Given the description of an element on the screen output the (x, y) to click on. 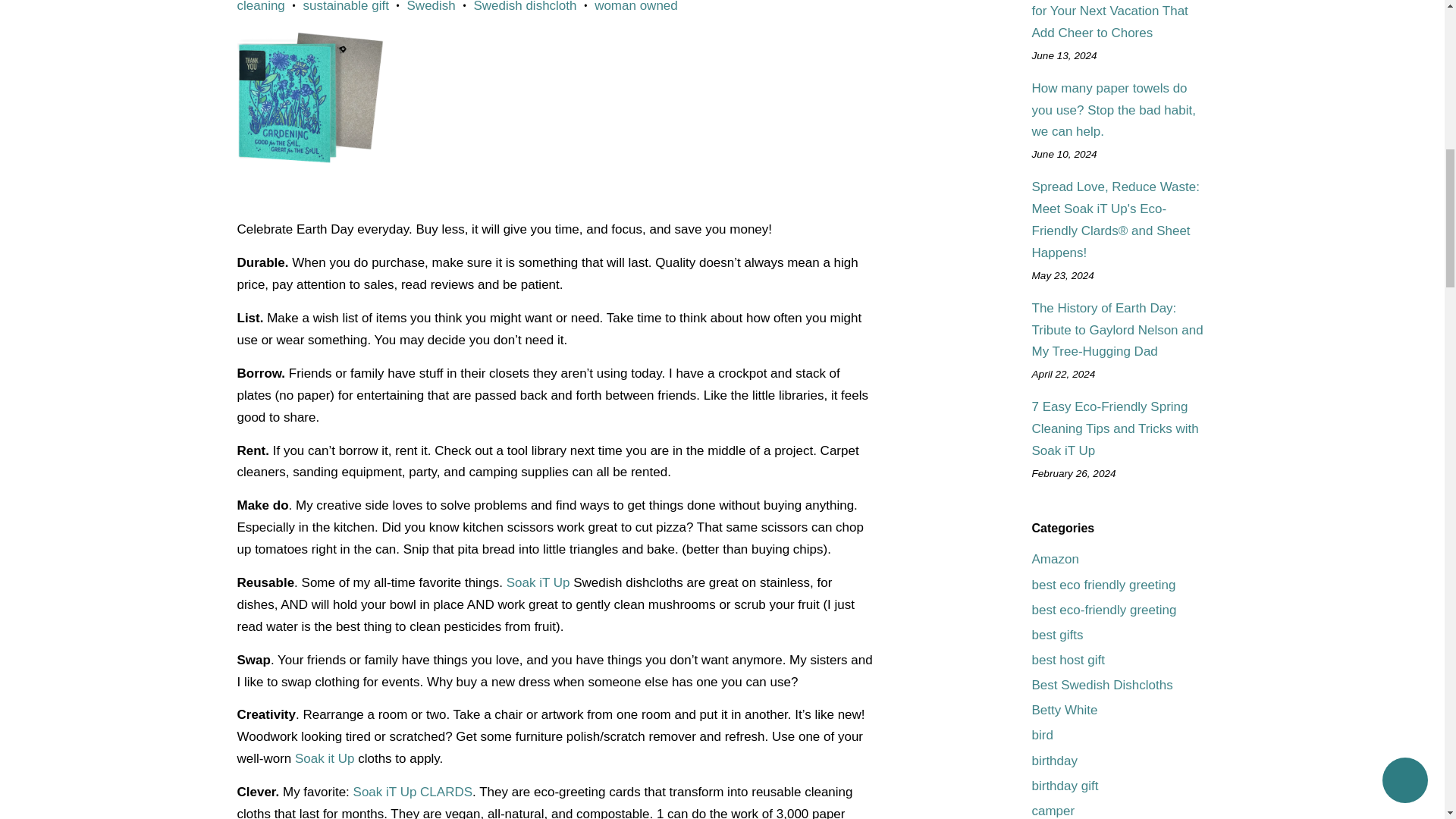
Show articles tagged best gifts (1056, 635)
Show articles tagged Betty White (1063, 709)
Show articles tagged Best Swedish Dishcloths (1101, 685)
Show articles tagged Amazon (1054, 559)
Show articles tagged best eco-friendly greeting (1103, 609)
Show articles tagged best host gift (1066, 659)
Show articles tagged best eco friendly greeting (1102, 585)
